Given the description of an element on the screen output the (x, y) to click on. 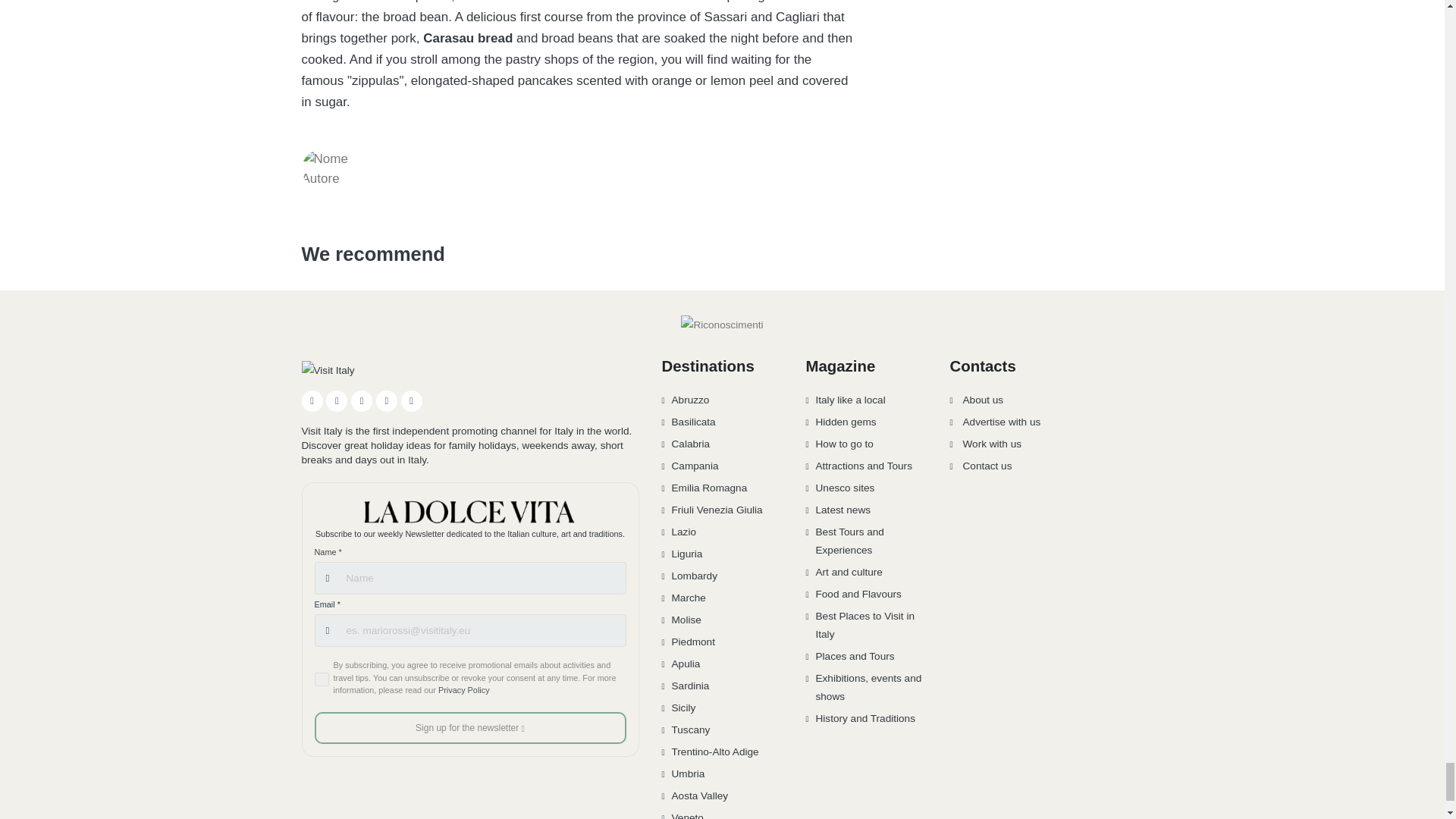
YouTube (361, 400)
Instagram (336, 400)
Facebook (312, 400)
TikTok (386, 400)
Spotify (411, 400)
